Given the description of an element on the screen output the (x, y) to click on. 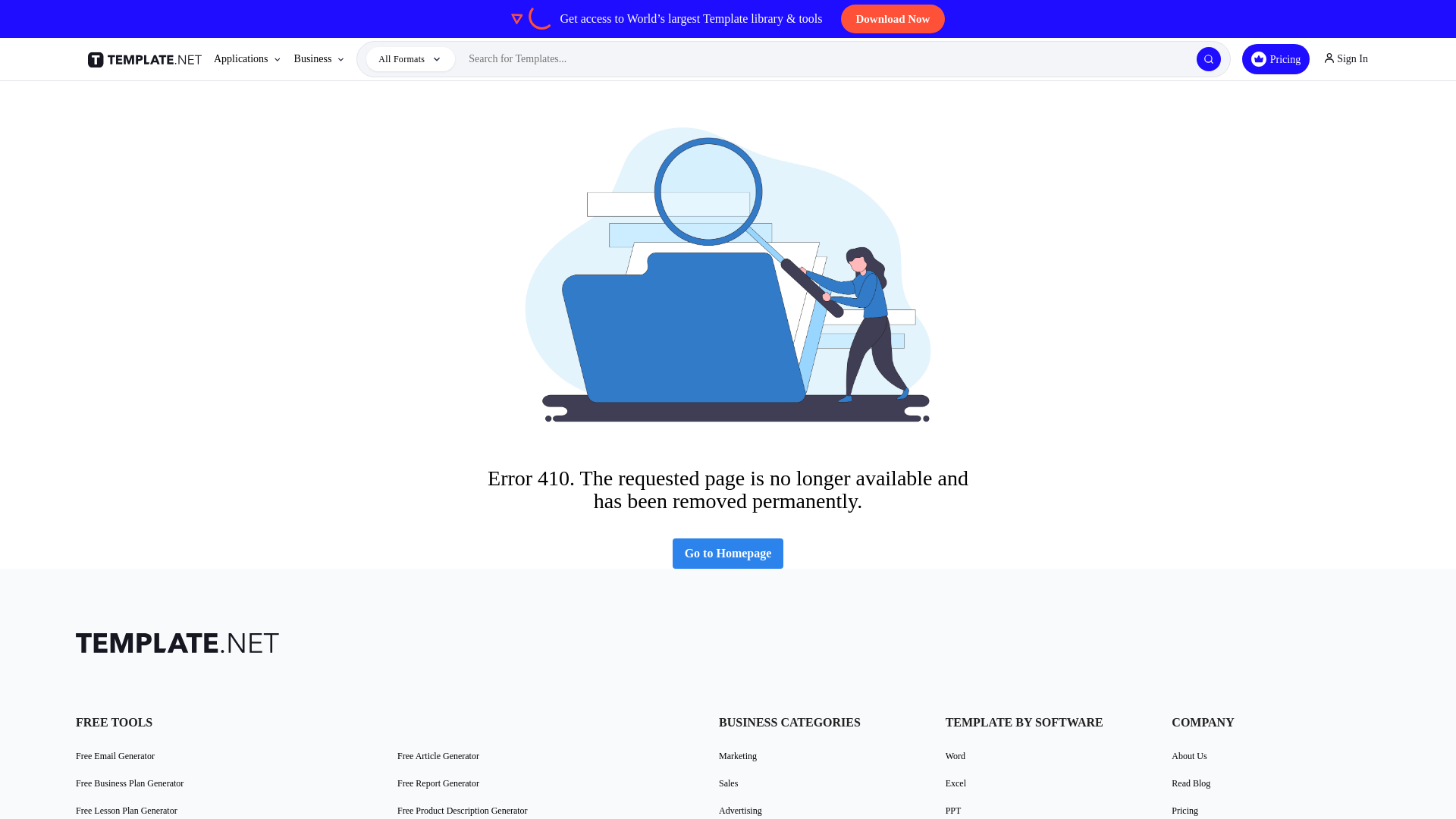
Download Now (892, 18)
Free Email Generator (114, 755)
Go to Homepage (728, 553)
Sign In (1345, 59)
Free Business Plan Generator (129, 783)
Free Article Generator (438, 755)
Free Product Description Generator (462, 810)
Free Report Generator (438, 783)
Template.net (147, 59)
Free Lesson Plan Generator (126, 810)
